Given the description of an element on the screen output the (x, y) to click on. 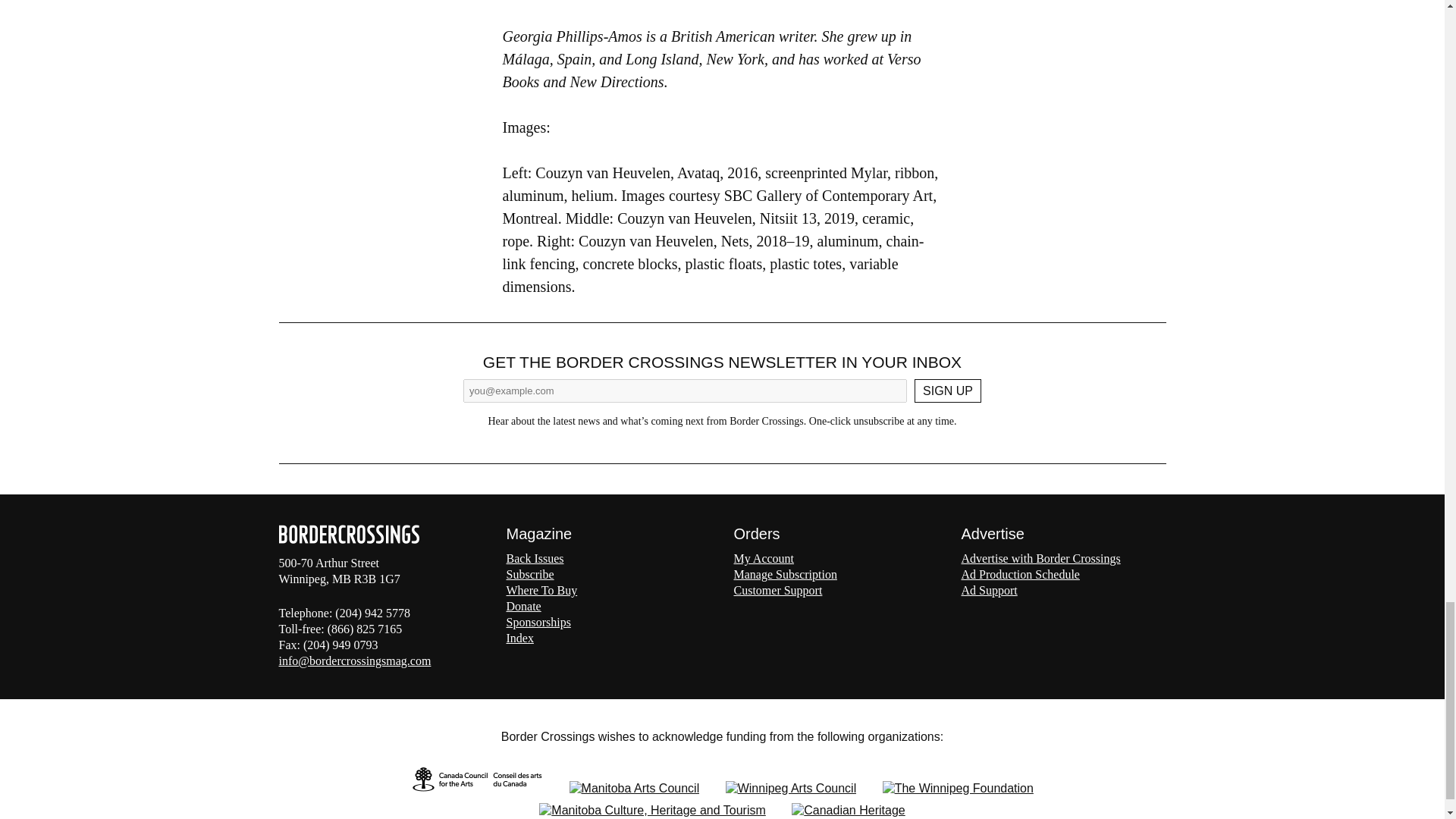
Manitoba Culture, Heritage and Tourism (651, 809)
Winnipeg Arts Council (791, 787)
Manitoba Arts Council (634, 787)
Canada Council for the Arts (476, 787)
Ad Production Schedule (1020, 574)
Advertise with Border Crossings (1040, 558)
Donate (523, 605)
The Winnipeg Foundation (957, 787)
Subscribe (530, 574)
Customer Support (777, 590)
